Given the description of an element on the screen output the (x, y) to click on. 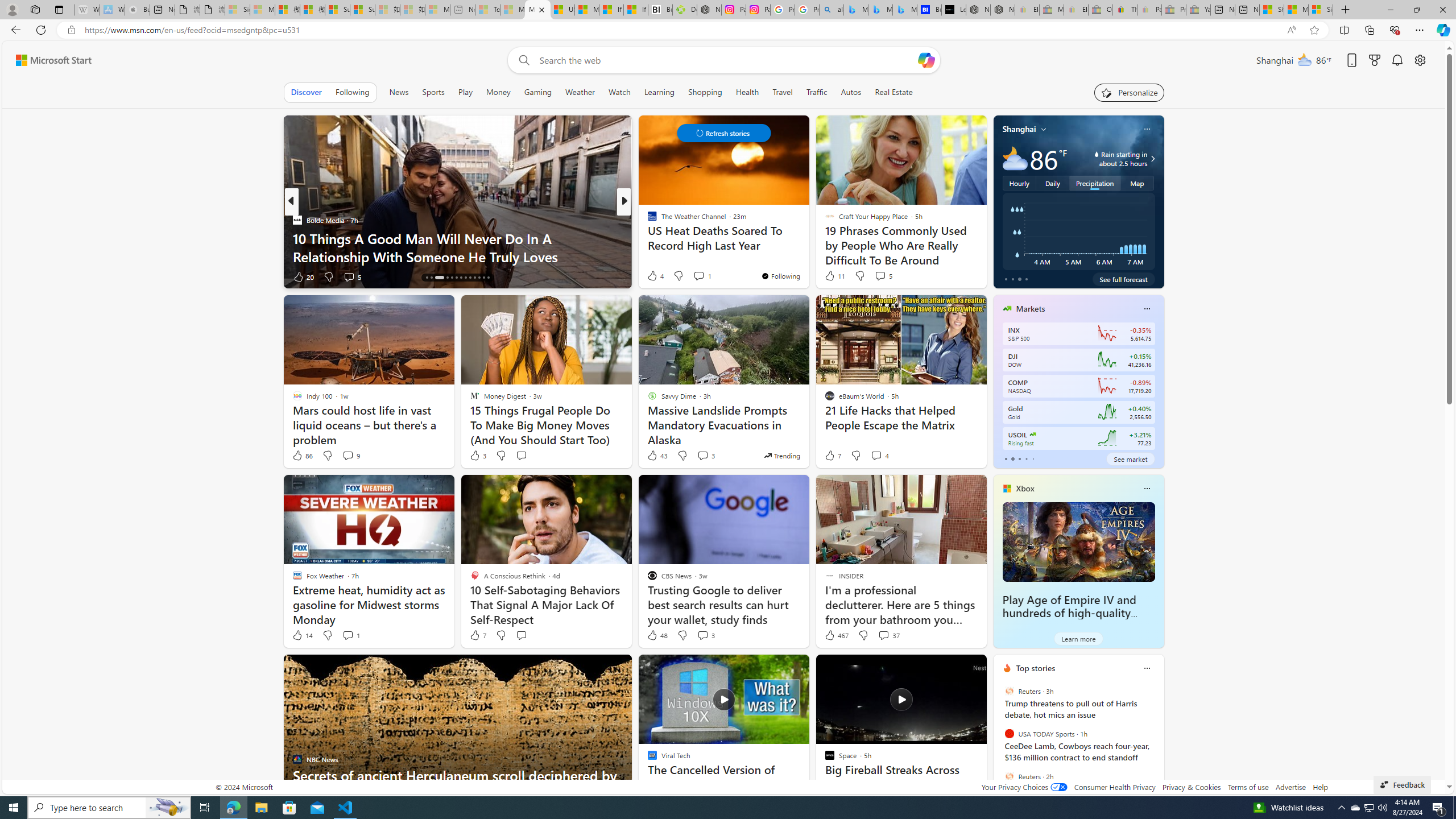
Microsoft Services Agreement - Sleeping (261, 9)
View comments 2 Comment (698, 276)
tab-4 (1032, 458)
Payments Terms of Use | eBay.com - Sleeping (1149, 9)
water-drop-icon Rain starting in about 2.5 hours (1110, 158)
Traffic (816, 92)
Consumer Health Privacy (1115, 786)
Sports (432, 92)
Traffic (816, 92)
4 AM 5 AM 6 AM 7 AM (1077, 231)
48 Like (657, 634)
